Given the description of an element on the screen output the (x, y) to click on. 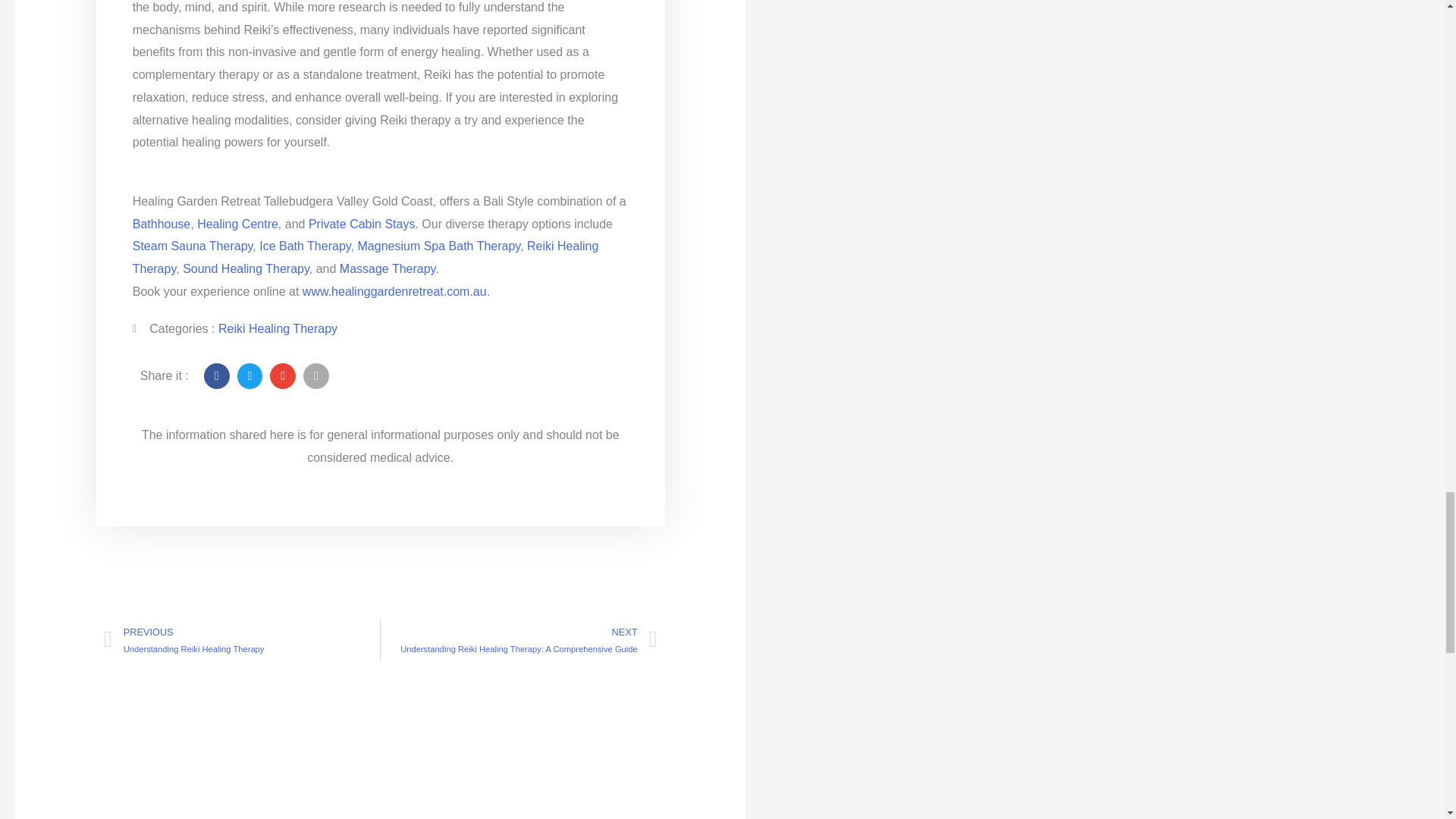
Magnesium Spa Bath Therapy (439, 245)
www.healinggardenretreat.com.au (394, 291)
Ice Bath Therapy (304, 245)
Massage Therapy (387, 268)
Reiki Healing Therapy (365, 257)
Steam Sauna Therapy (192, 245)
Sound Healing Therapy (245, 268)
Bathhouse (161, 223)
Reiki Healing Therapy (277, 328)
Healing Centre (237, 223)
